Given the description of an element on the screen output the (x, y) to click on. 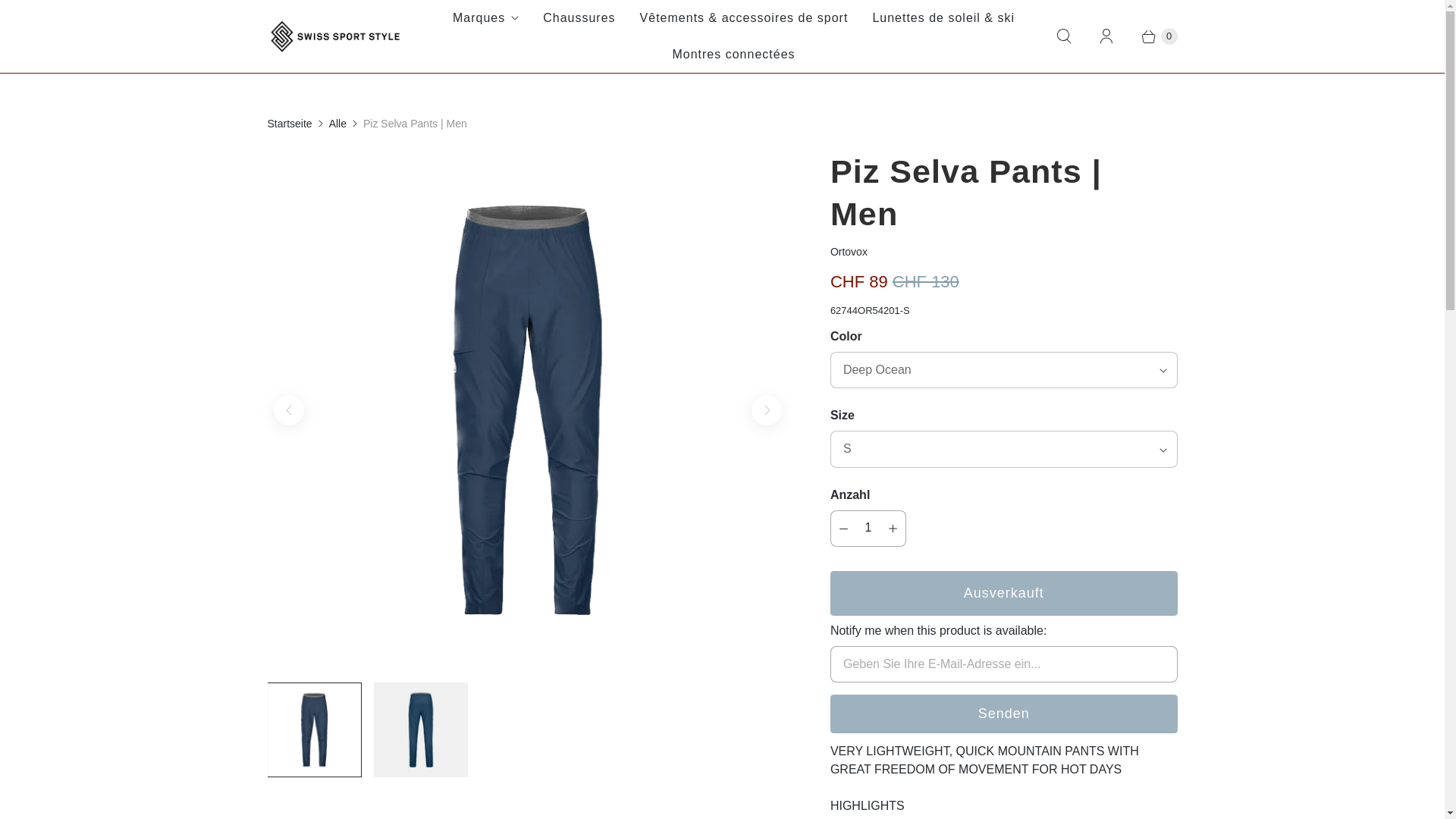
Senden (1003, 713)
0 (1151, 36)
Chaussures (579, 18)
